Given the description of an element on the screen output the (x, y) to click on. 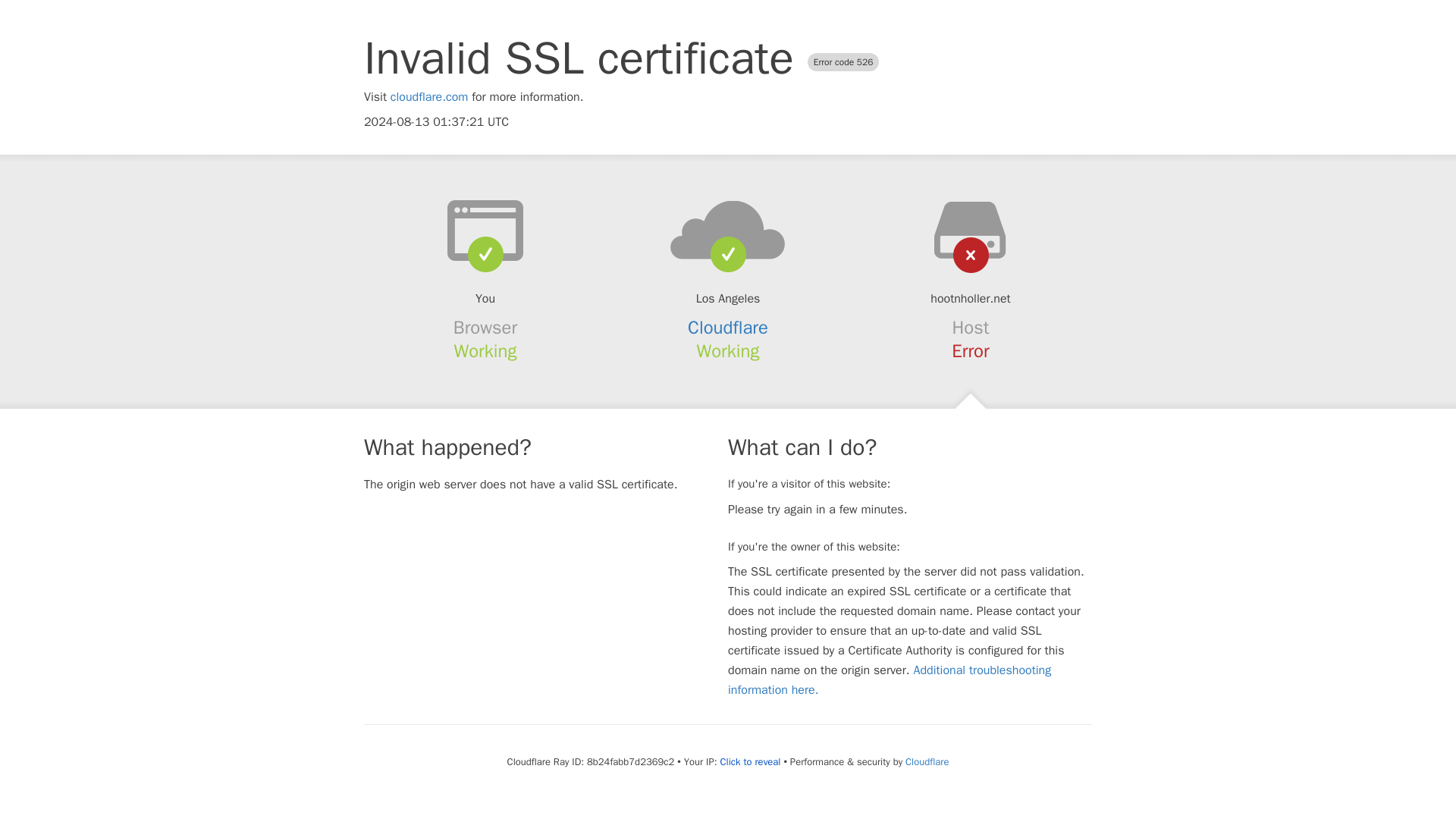
cloudflare.com (429, 96)
Cloudflare (927, 761)
Cloudflare (727, 327)
Additional troubleshooting information here. (889, 679)
Click to reveal (750, 762)
